Given the description of an element on the screen output the (x, y) to click on. 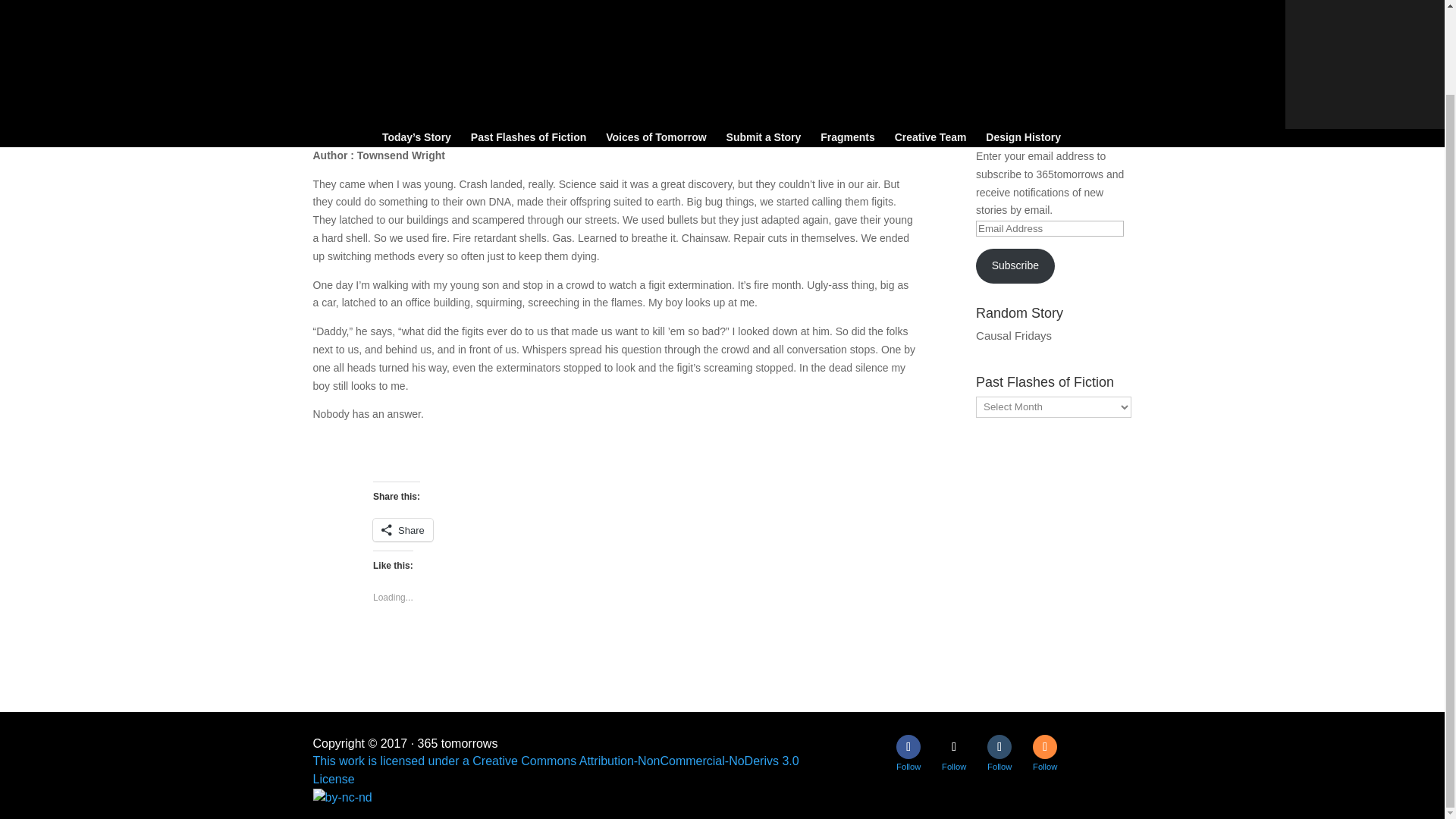
Causal Fridays (1013, 335)
Design History (1023, 43)
Submit a Story (764, 43)
Posts by submission (353, 98)
Subscribe (1014, 265)
Creative Team (930, 43)
Follow on RSS (1044, 746)
submission (353, 98)
Past Flashes of Fiction (528, 43)
Follow (999, 746)
Follow on tumblr (999, 746)
Share (402, 529)
0 comments (522, 98)
Search (1106, 74)
